Given the description of an element on the screen output the (x, y) to click on. 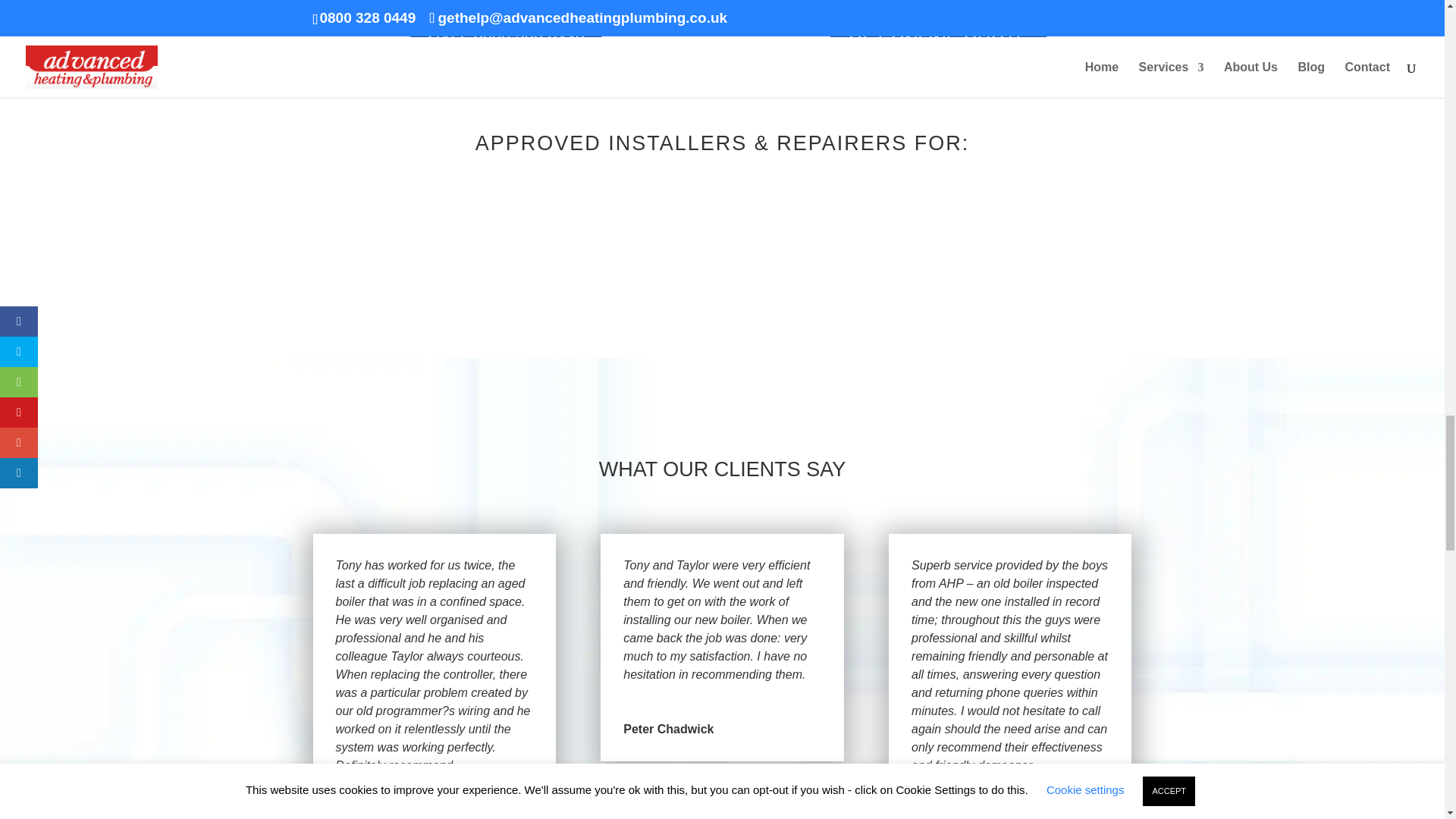
CALL 0800 328 0449 (506, 39)
Approved Worcester Bosch installer logo (648, 264)
Gas Safe registered logo (1081, 284)
Approved Vaillant installer logo (361, 249)
Approved Viessmann installer logo (505, 246)
Approved Elson installer logo (937, 260)
Approved Stuart Turner installer logo (793, 254)
GET ONLINE QUOTE (937, 41)
